Given the description of an element on the screen output the (x, y) to click on. 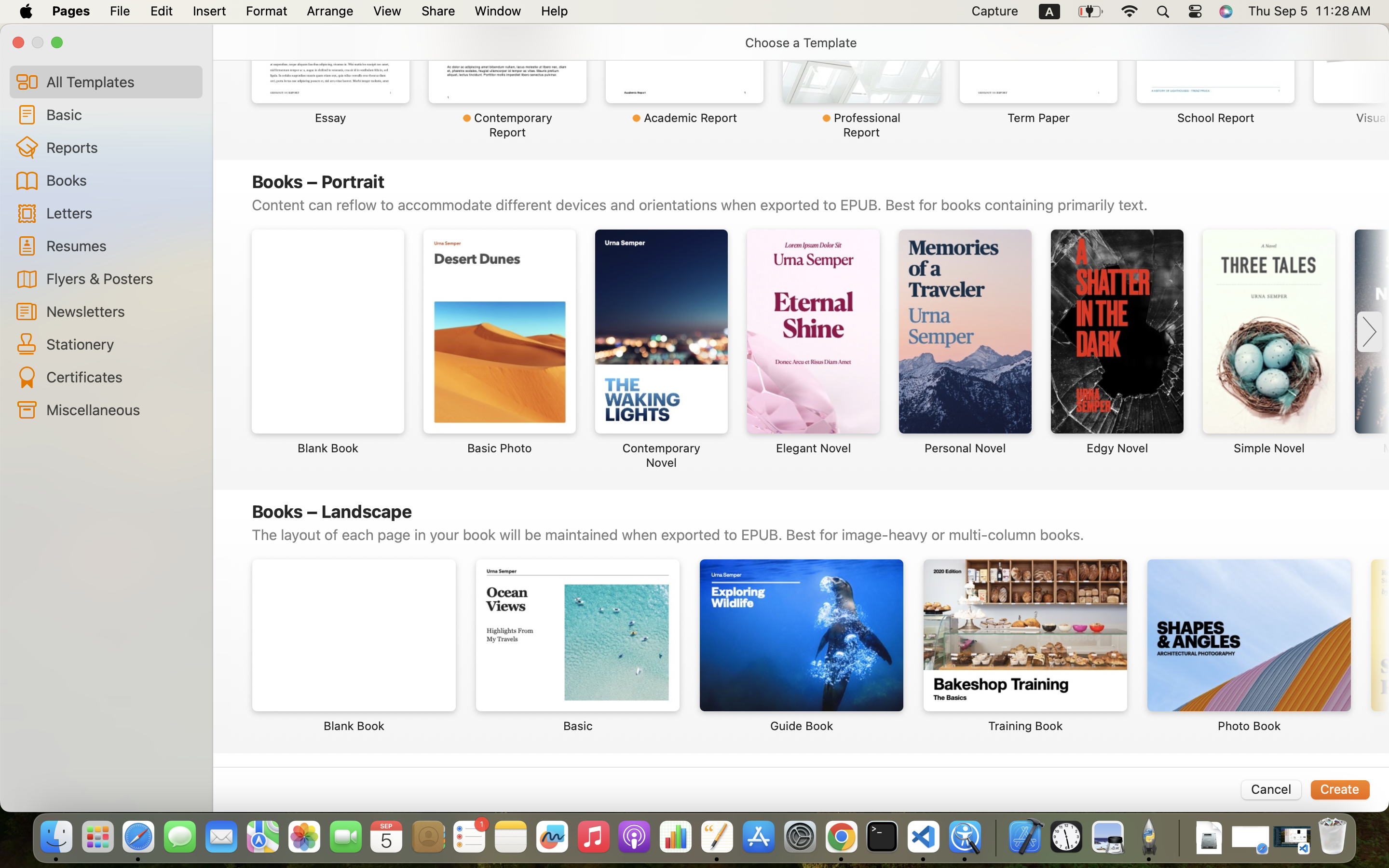
Miscellaneous Element type: AXStaticText (120, 409)
Flyers & Posters Element type: AXStaticText (120, 278)
All Templates Element type: AXStaticText (120, 81)
Books Element type: AXStaticText (120, 179)
